Given the description of an element on the screen output the (x, y) to click on. 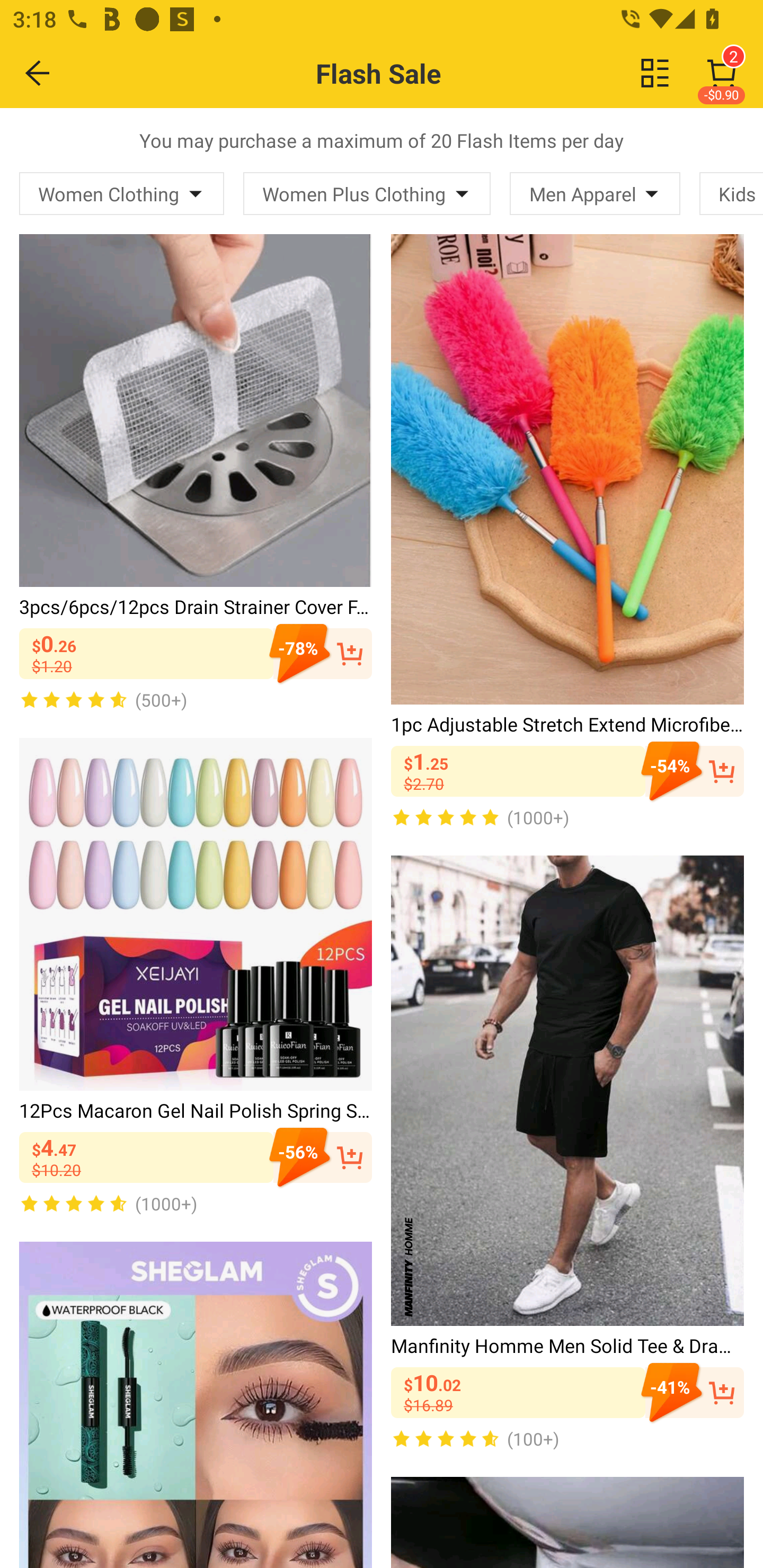
Flash Sale change view 2 -$0.90 (419, 72)
2 -$0.90 (721, 72)
change view (654, 72)
BACK (38, 72)
Women Clothing (121, 193)
Women Plus Clothing (366, 193)
Men Apparel (594, 193)
Kids (731, 193)
